Given the description of an element on the screen output the (x, y) to click on. 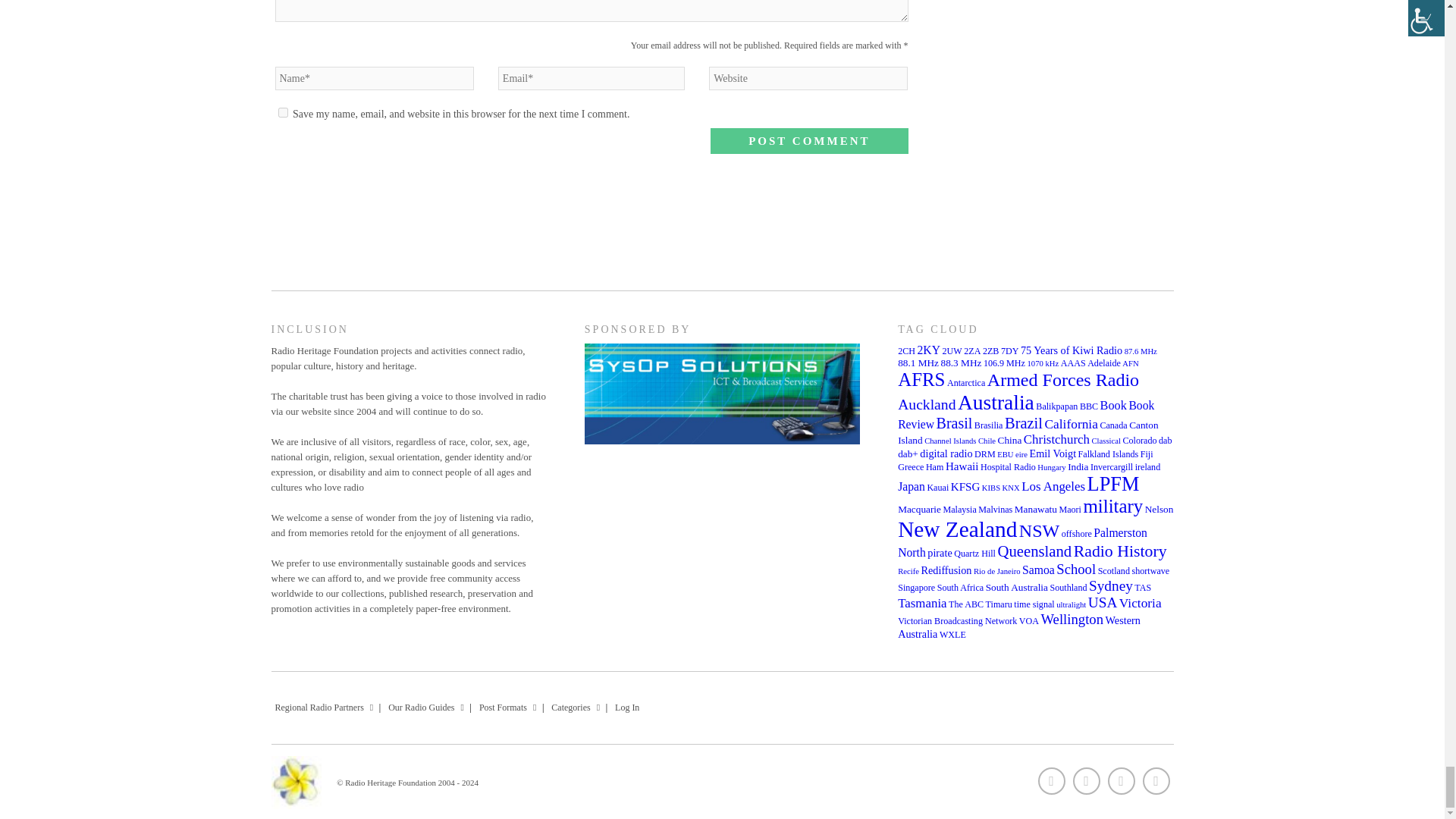
Post Comment (808, 140)
yes (282, 112)
